Given the description of an element on the screen output the (x, y) to click on. 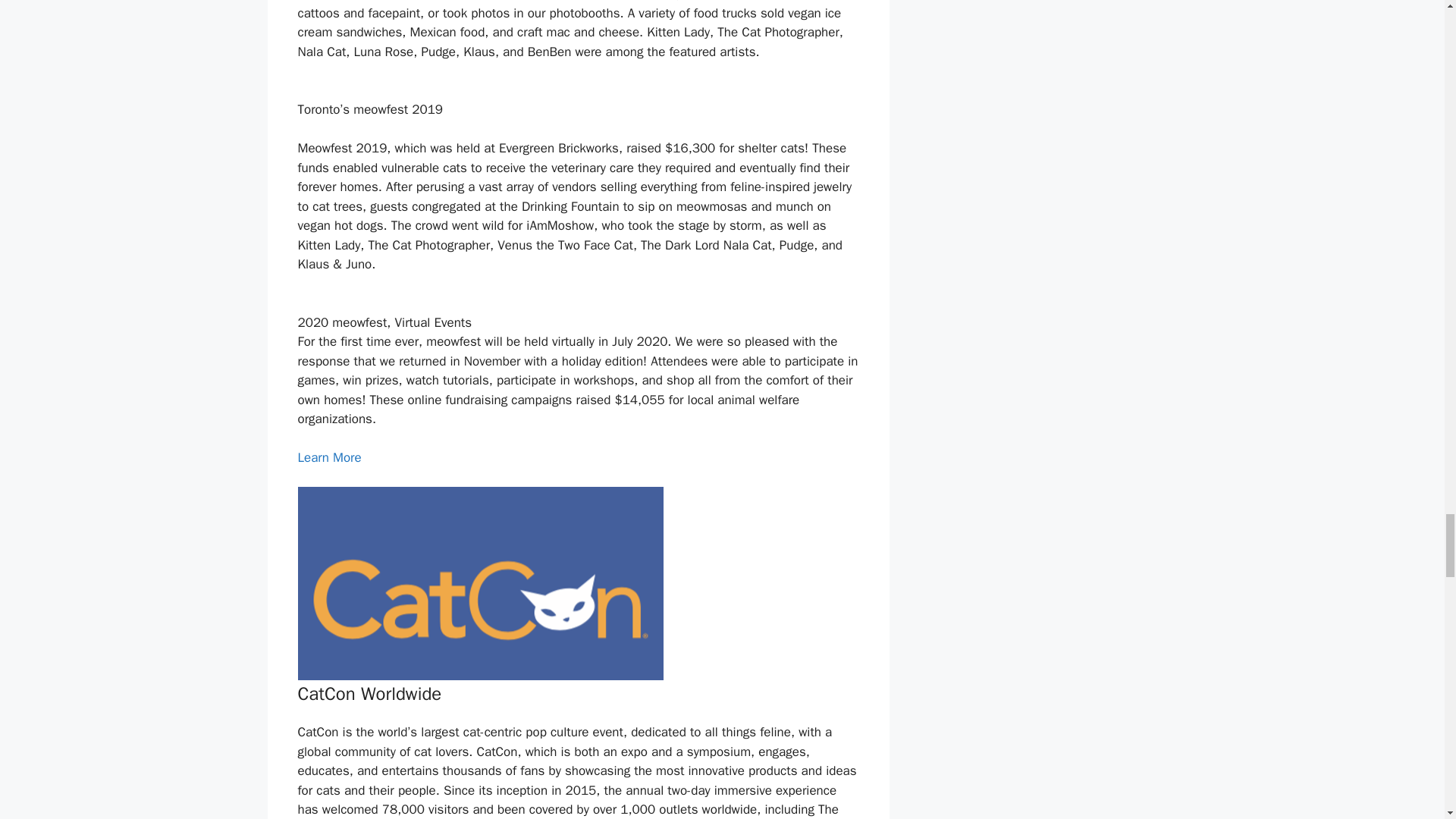
Learn More (329, 457)
